Given the description of an element on the screen output the (x, y) to click on. 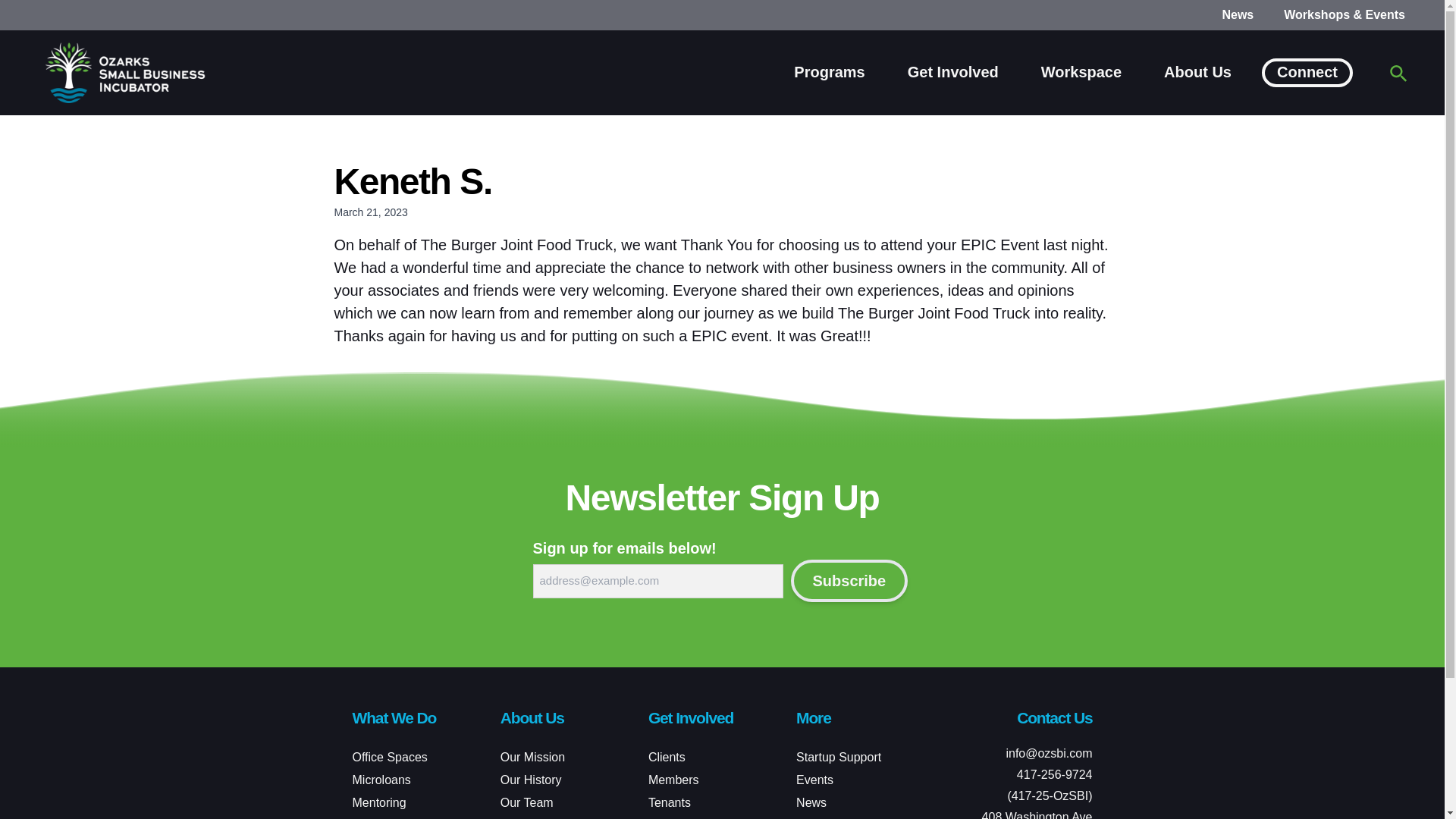
Workspace (1081, 71)
Subscribe (848, 580)
Programs (828, 71)
Get Involved (952, 71)
Subscribe (848, 580)
Microloans (381, 779)
Mentoring (379, 802)
Connect (1307, 71)
About Us (1197, 71)
News (1237, 14)
Keneth S. (412, 181)
Office Spaces (389, 757)
